Given the description of an element on the screen output the (x, y) to click on. 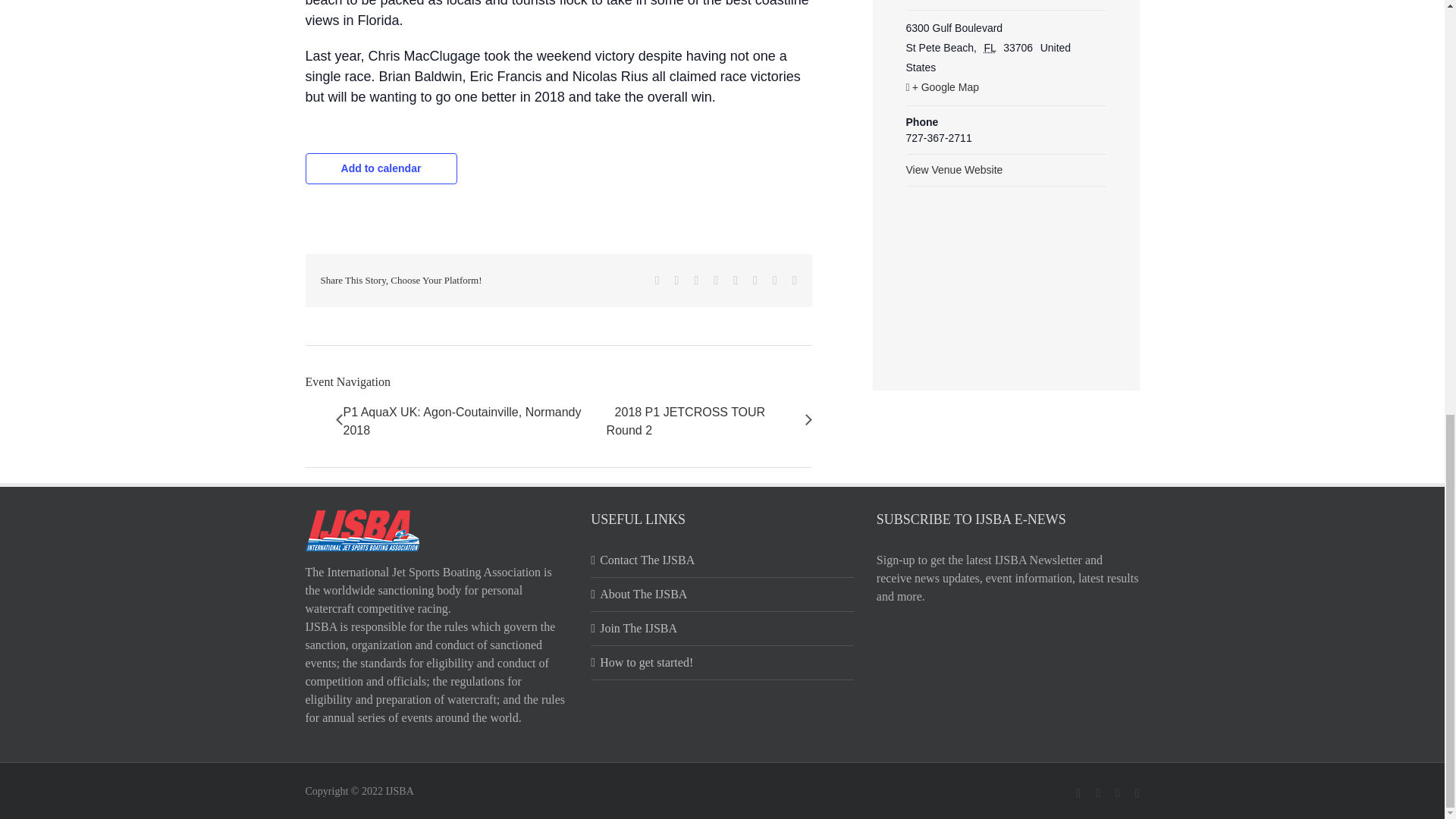
Tumblr (735, 280)
Twitter (677, 280)
Email (794, 280)
Facebook (657, 280)
Twitter (677, 280)
Add to calendar (381, 168)
Pinterest (754, 280)
Reddit (696, 280)
P1 AquaX UK: Agon-Coutainville, Normandy 2018 (473, 421)
Pinterest (754, 280)
Vk (775, 280)
Vk (775, 280)
Tumblr (735, 280)
Email (794, 280)
LinkedIn (715, 280)
